Given the description of an element on the screen output the (x, y) to click on. 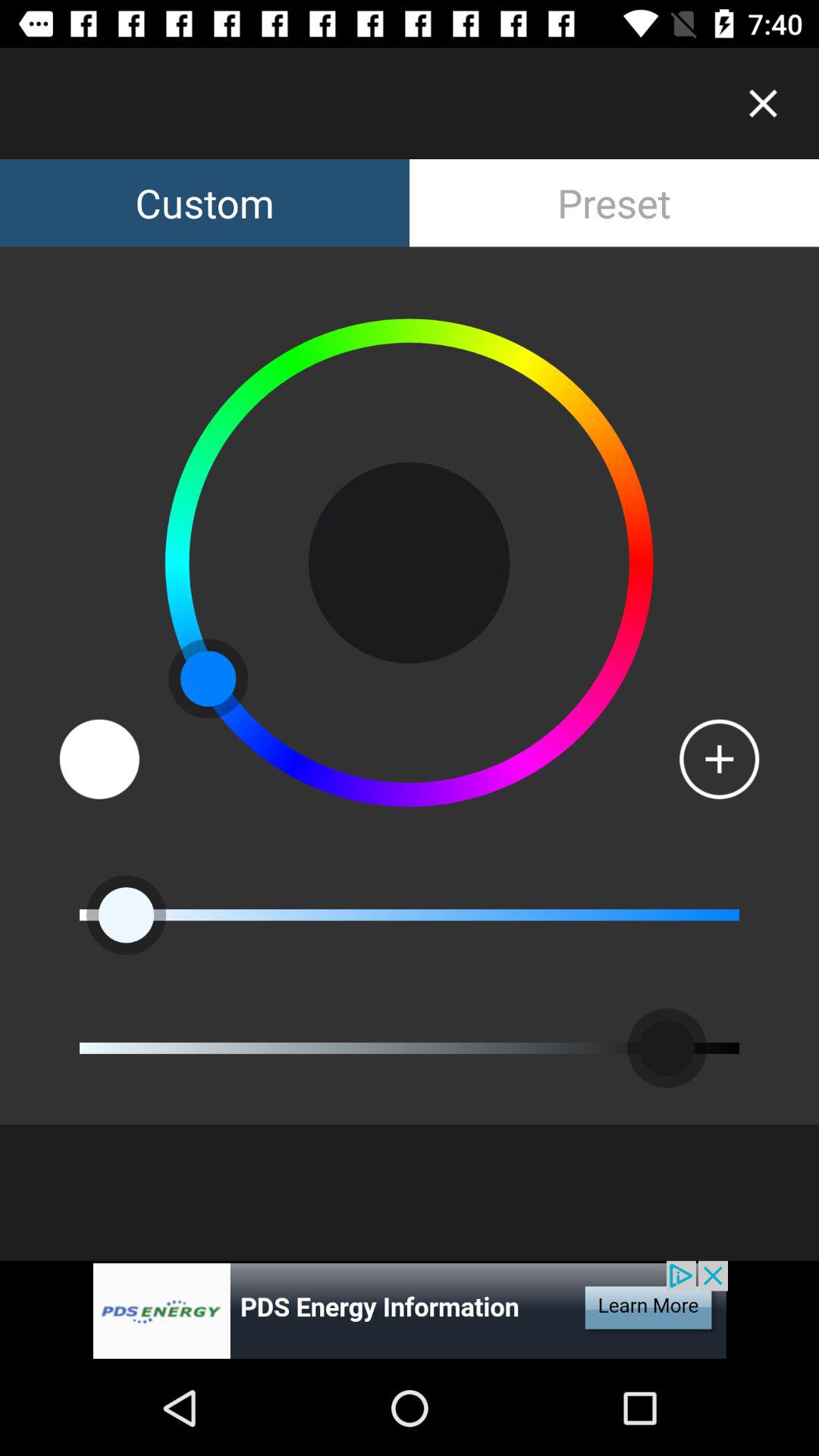
decrease (99, 759)
